Given the description of an element on the screen output the (x, y) to click on. 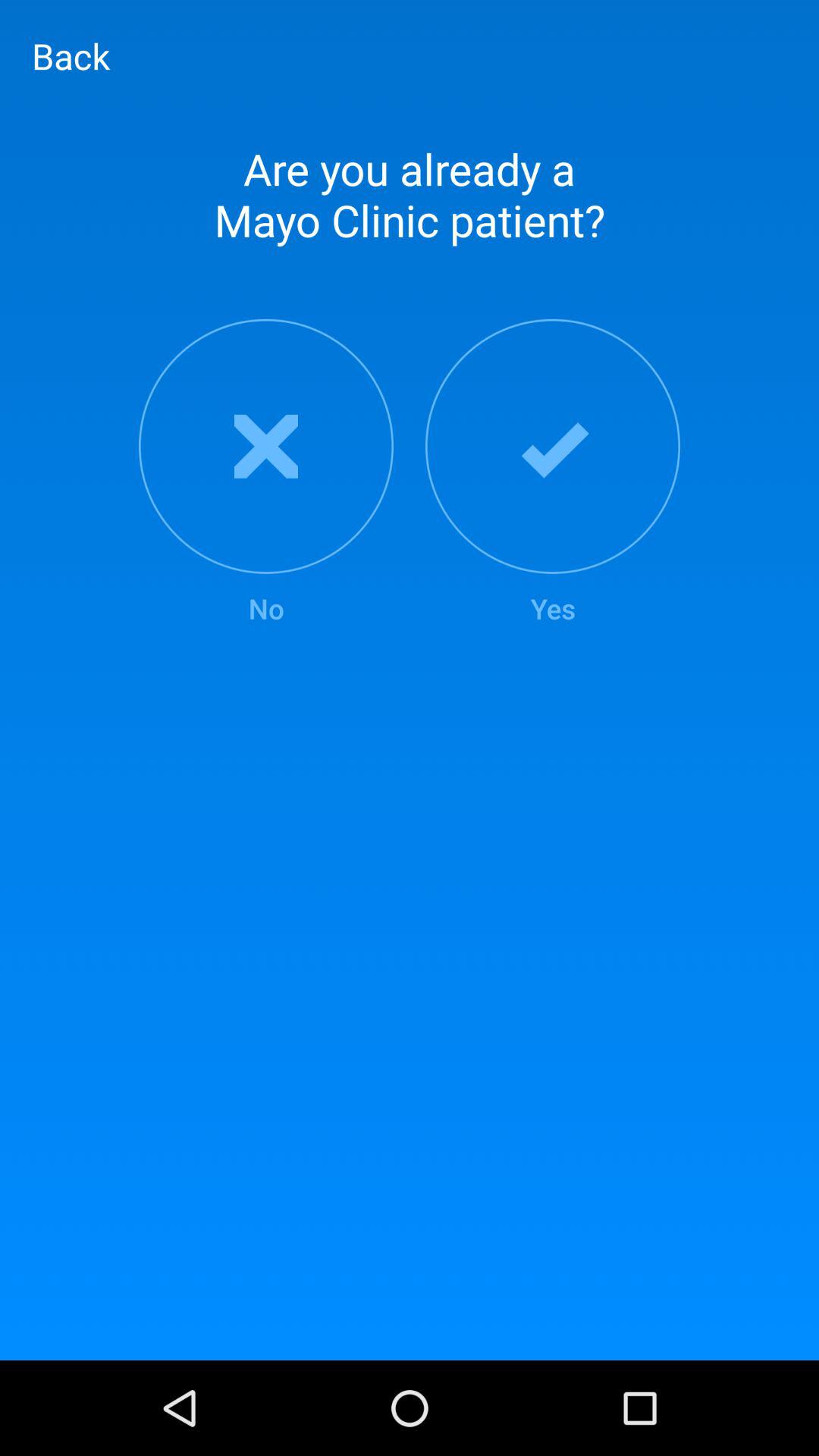
choose the yes item (552, 473)
